Given the description of an element on the screen output the (x, y) to click on. 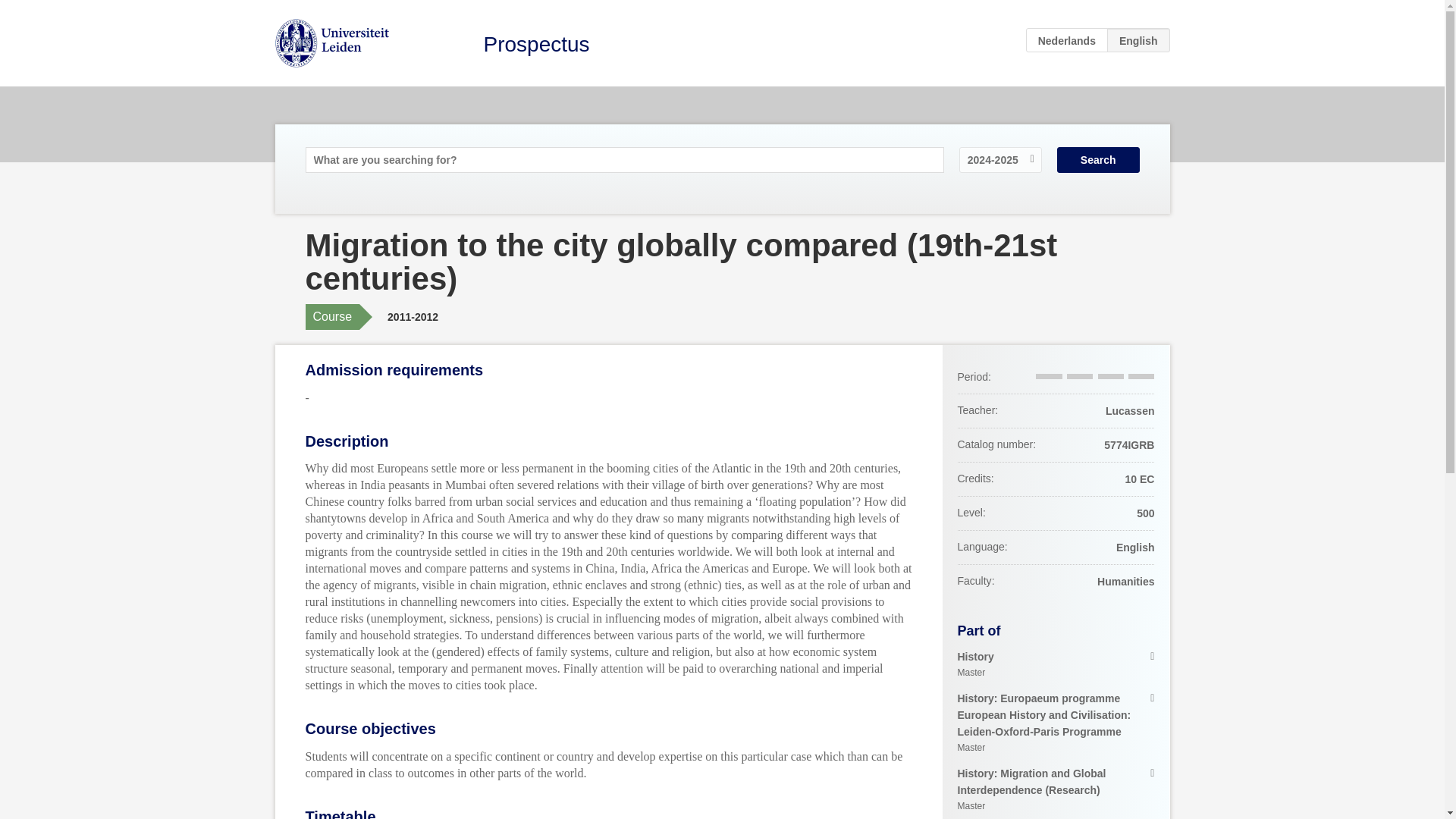
Prospectus (536, 44)
NL (1055, 664)
Search (1067, 39)
